Given the description of an element on the screen output the (x, y) to click on. 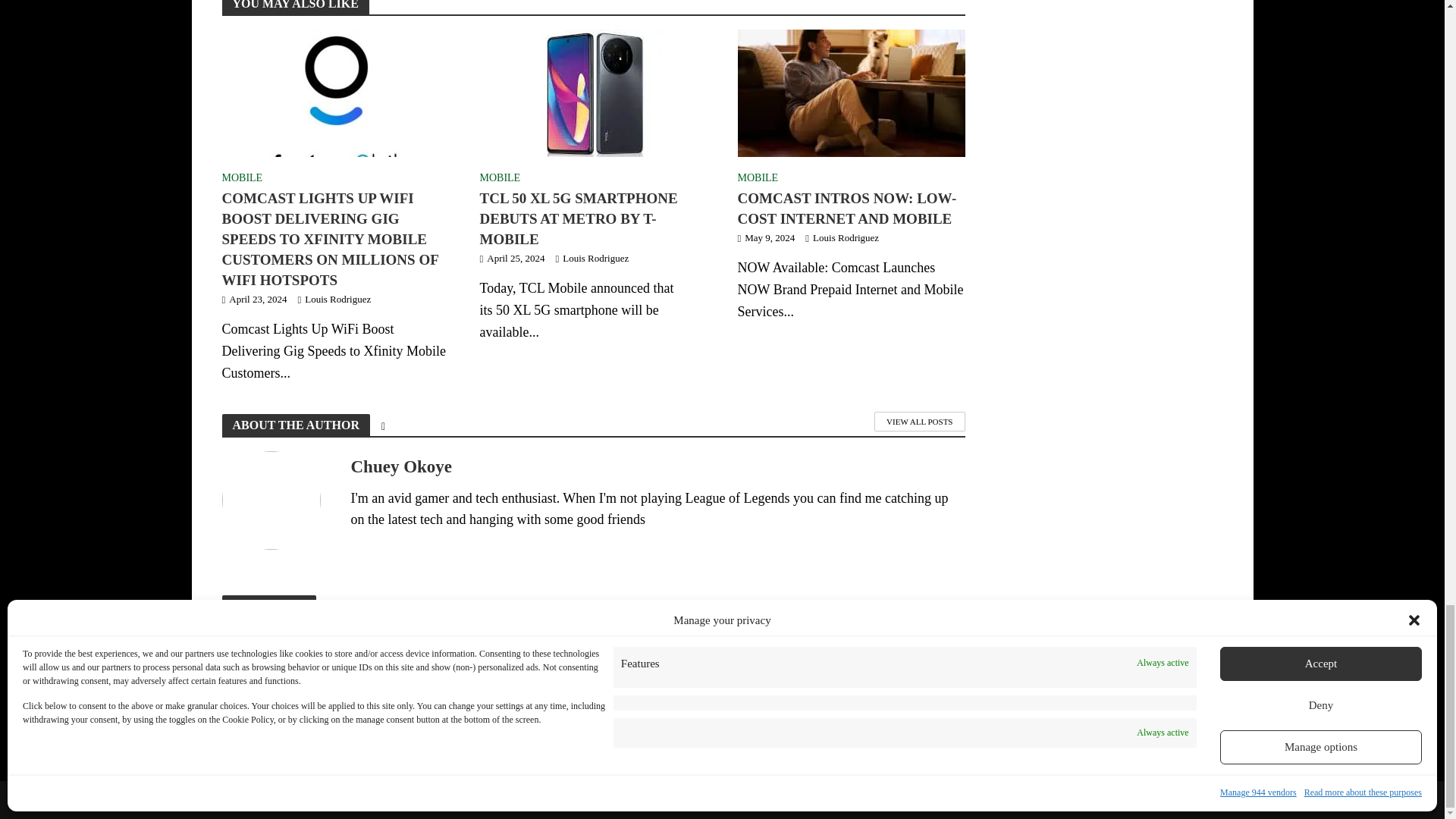
Comcast Intros NOW: Low-Cost Internet and Mobile (849, 91)
Privacy Policy (434, 801)
TCL 50 XL 5G Smartphone Debuts at Metro by T-Mobile (592, 91)
